Given the description of an element on the screen output the (x, y) to click on. 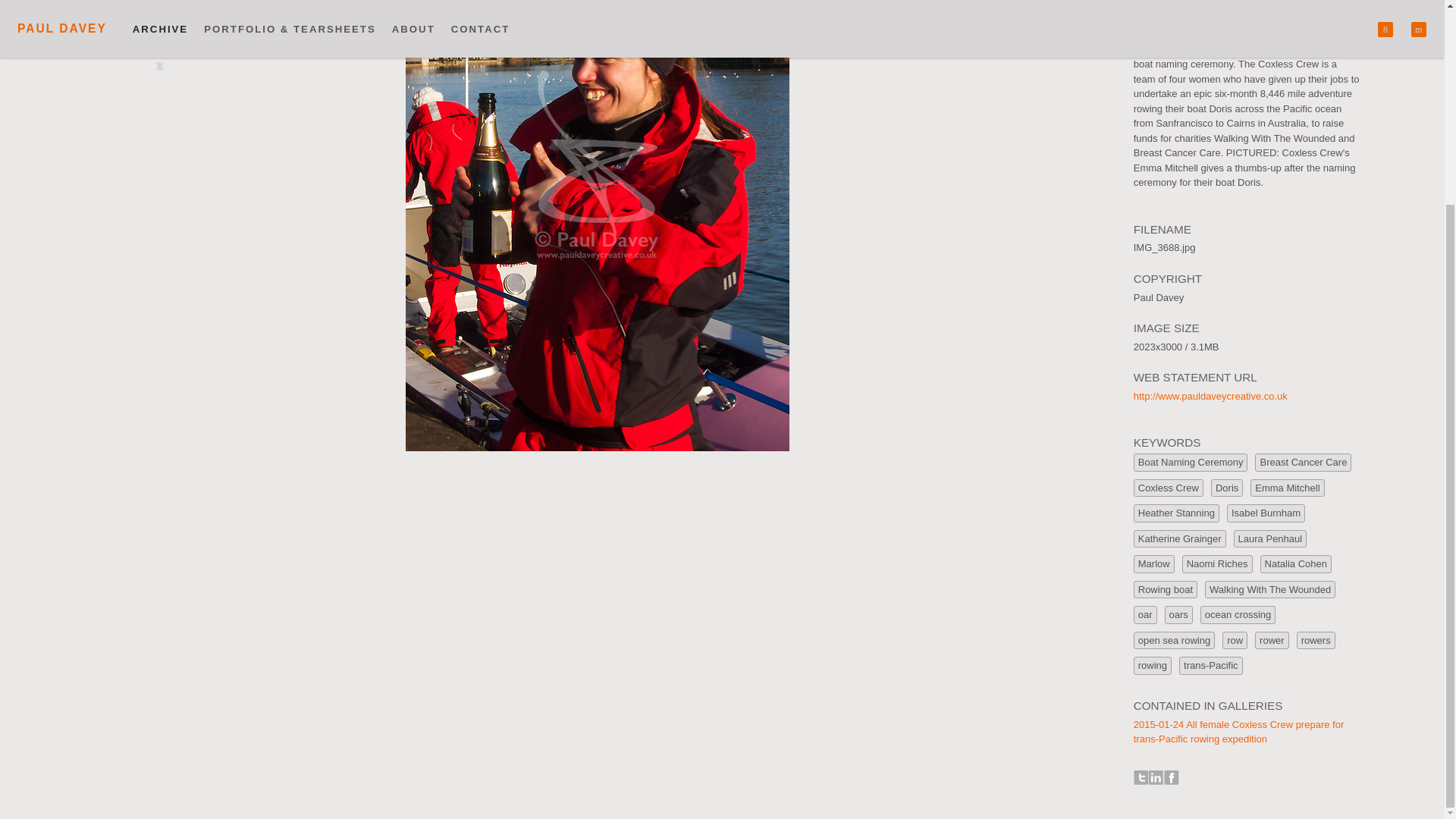
Marlow (1154, 564)
open sea rowing (1174, 640)
ocean crossing (1237, 615)
Boat Naming Ceremony (1190, 462)
Walking With The Wounded (1270, 589)
Laura Penhaul (1270, 538)
Rowing boat (1165, 589)
Emma Mitchell (1286, 488)
oars (1178, 615)
oar (1145, 615)
Isabel Burnham (1265, 513)
Doris (1227, 488)
Coxless Crew (1169, 488)
Katherine Grainger (1179, 538)
Heather Stanning (1177, 513)
